Given the description of an element on the screen output the (x, y) to click on. 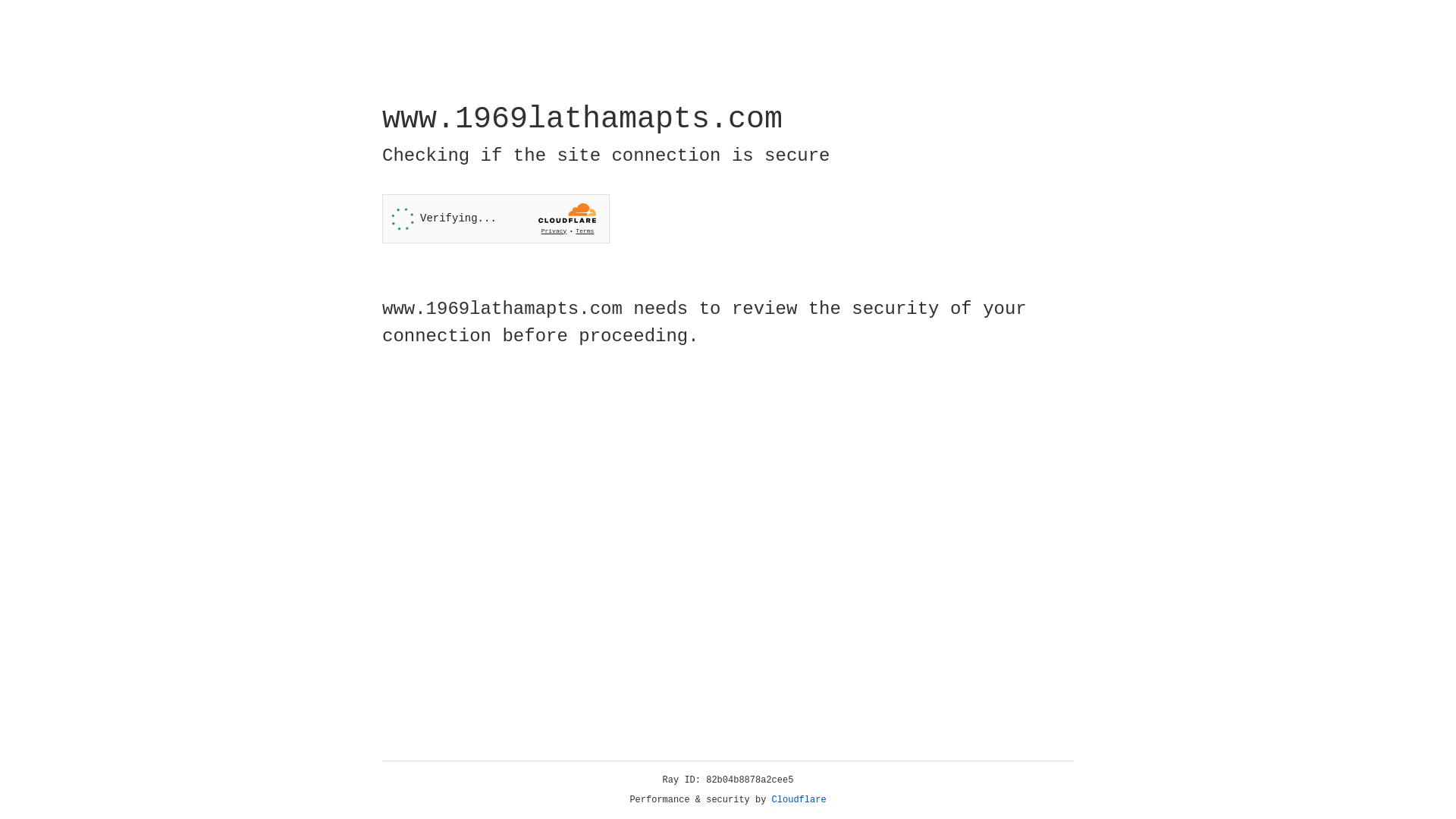
Widget containing a Cloudflare security challenge Element type: hover (495, 218)
Cloudflare Element type: text (798, 799)
